Given the description of an element on the screen output the (x, y) to click on. 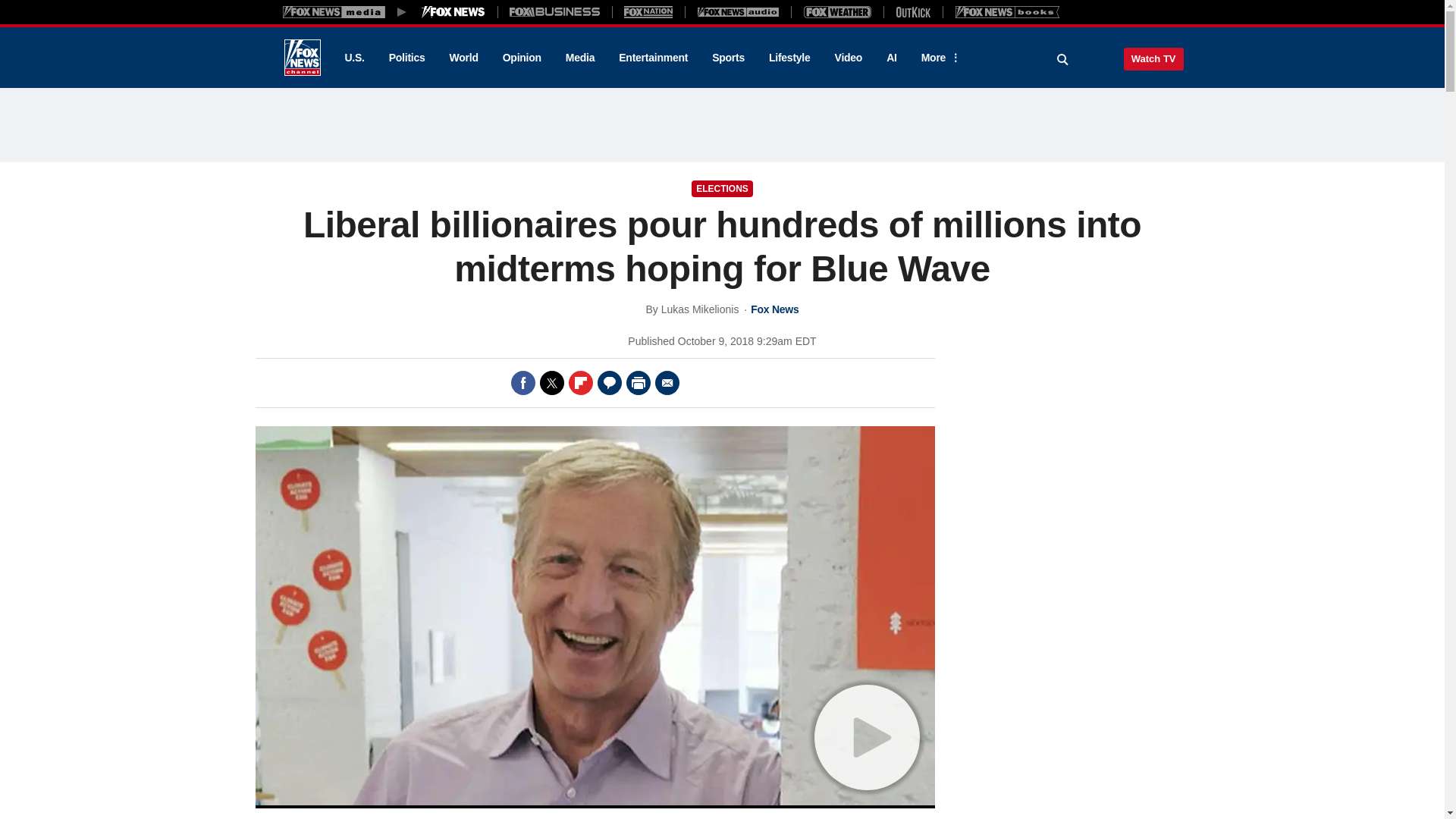
U.S. (353, 57)
More (938, 57)
Outkick (912, 11)
Fox Nation (648, 11)
Opinion (521, 57)
World (464, 57)
Fox Weather (836, 11)
Fox News Audio (737, 11)
Fox Business (554, 11)
Politics (407, 57)
Sports (728, 57)
Books (1007, 11)
AI (891, 57)
Video (848, 57)
Fox News (301, 57)
